Given the description of an element on the screen output the (x, y) to click on. 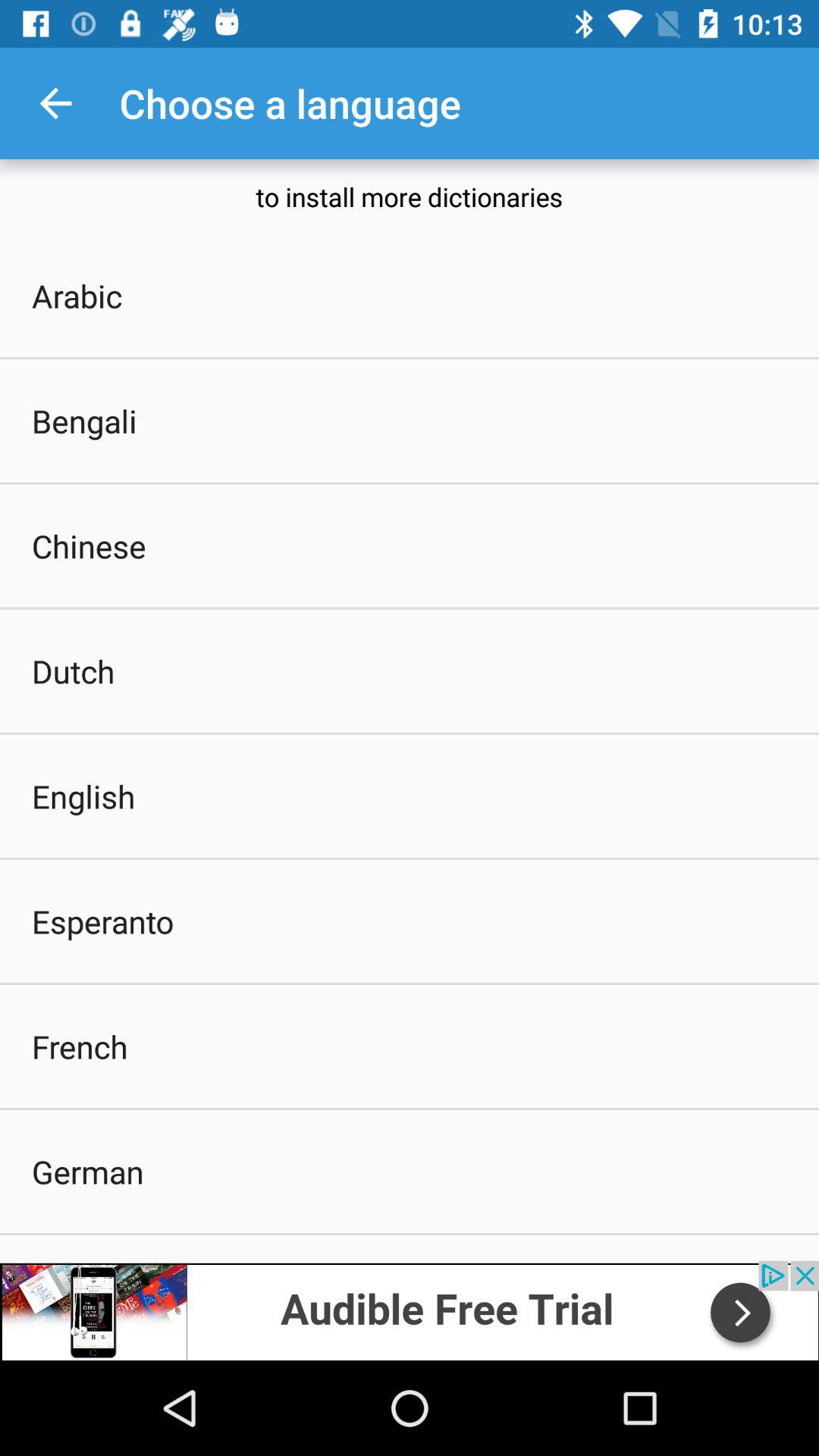
go to advertisement (409, 1310)
